Given the description of an element on the screen output the (x, y) to click on. 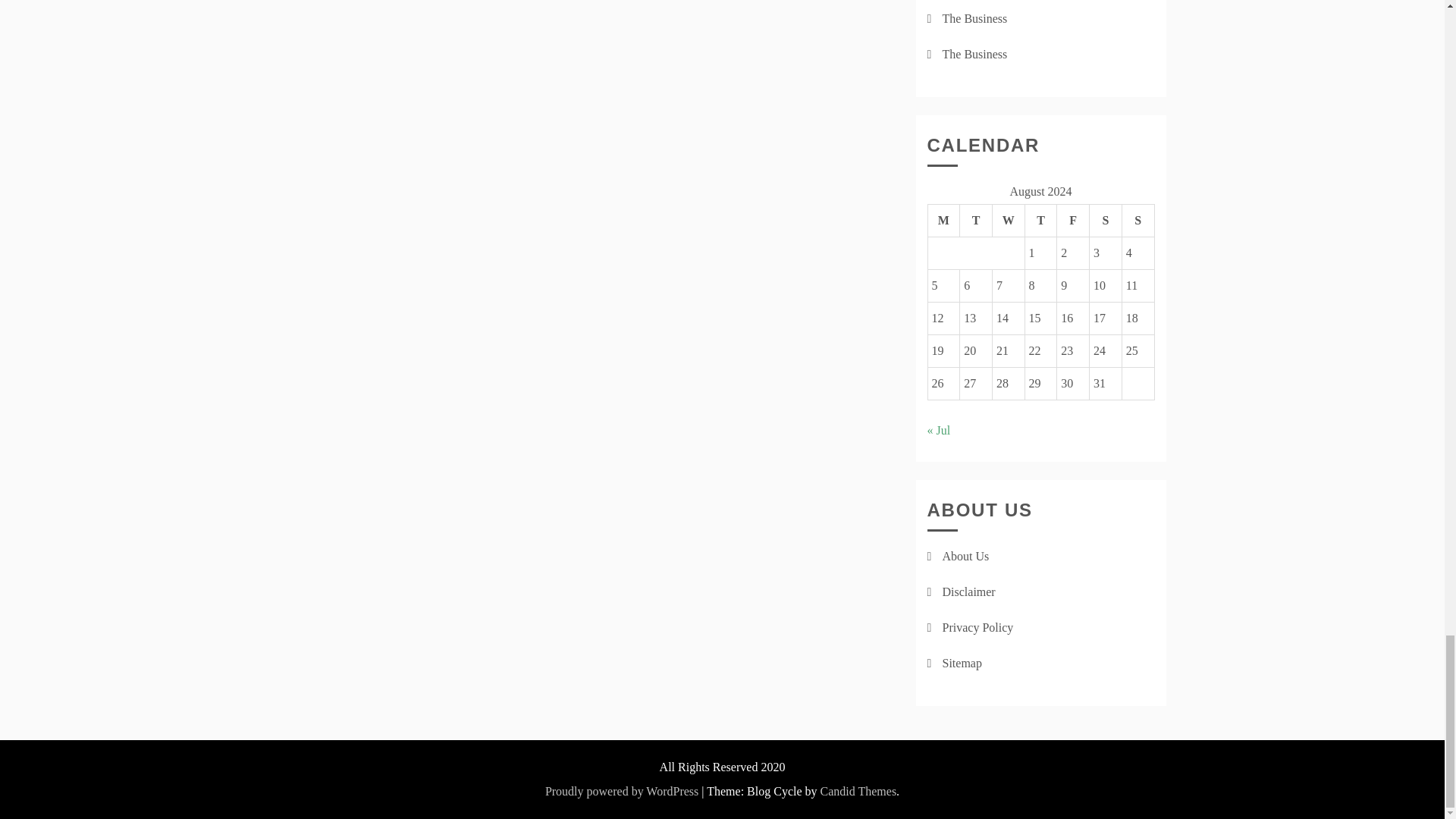
Monday (943, 220)
Thursday (1041, 220)
Sunday (1137, 220)
Saturday (1105, 220)
Tuesday (975, 220)
Wednesday (1008, 220)
Friday (1073, 220)
